Given the description of an element on the screen output the (x, y) to click on. 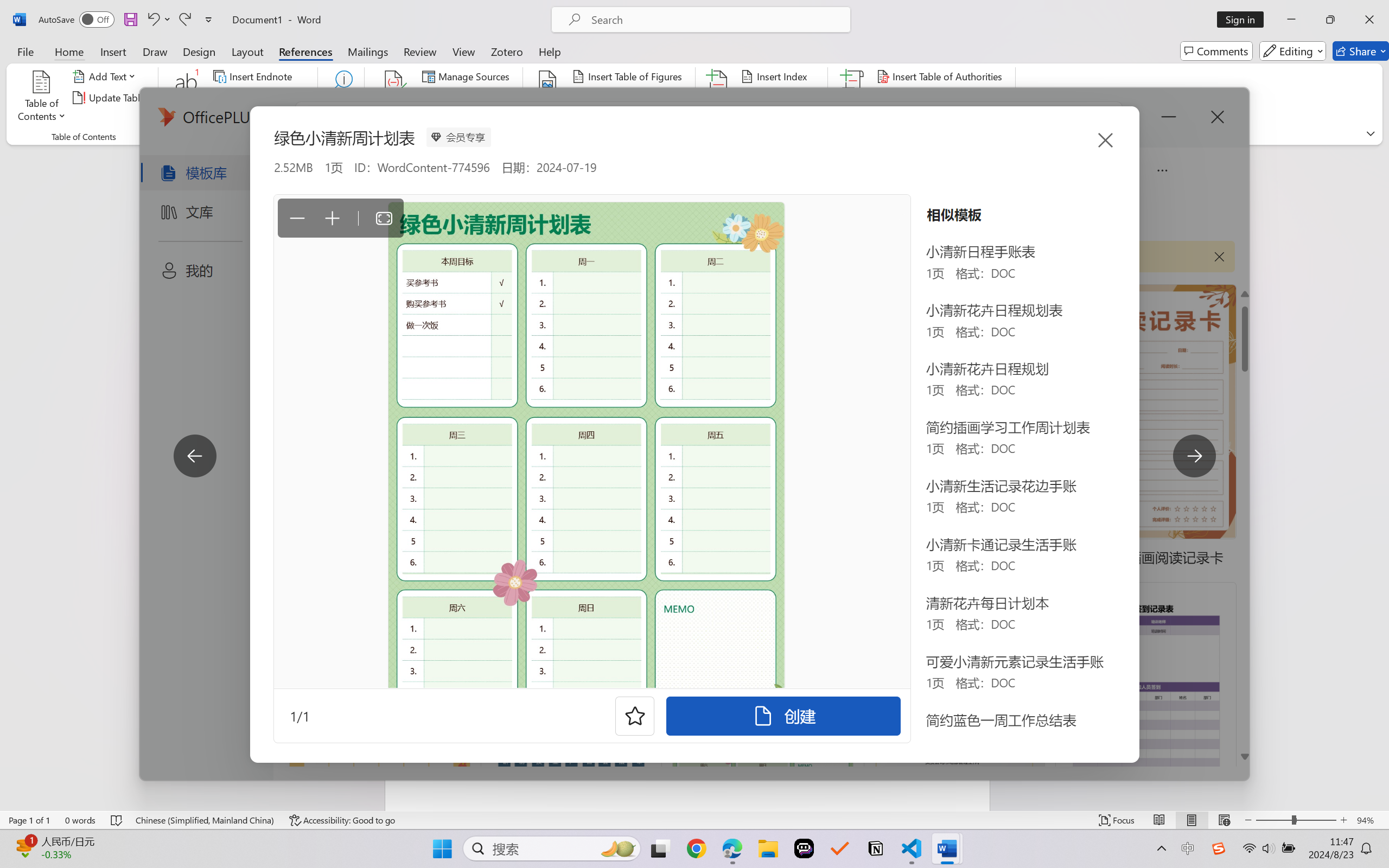
Style (488, 97)
Mark Entry... (718, 97)
Undo Apply Quick Style Set (158, 19)
Bibliography (463, 118)
Table of Contents (42, 97)
Mark Citation... (852, 97)
Insert Citation (393, 97)
Insert Index... (775, 75)
